Given the description of an element on the screen output the (x, y) to click on. 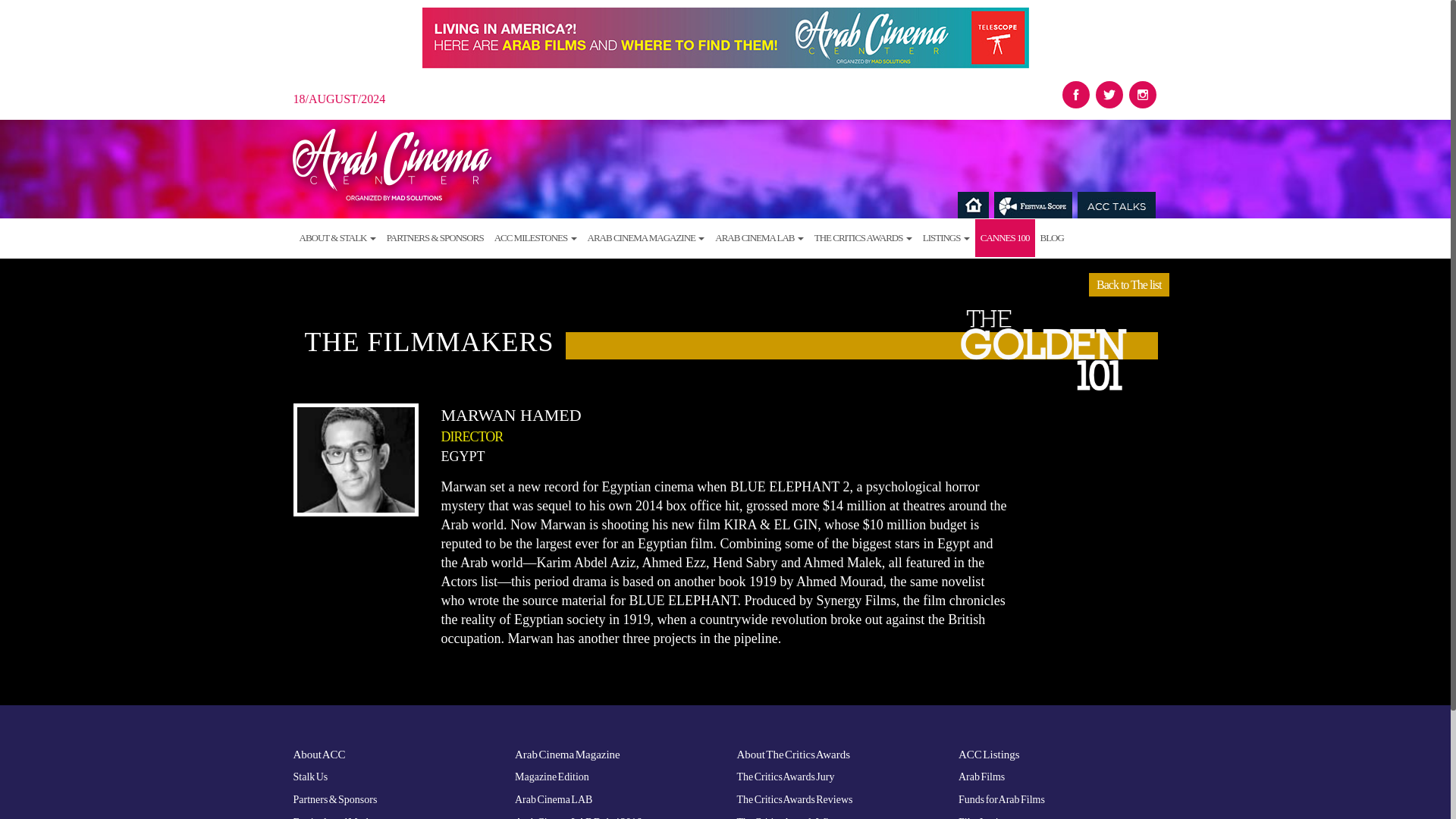
ARAB CINEMA LAB (759, 238)
ARAB CINEMA MAGAZINE (646, 238)
THE CRITICS AWARDS (863, 238)
ACC MILESTONES (535, 238)
